Given the description of an element on the screen output the (x, y) to click on. 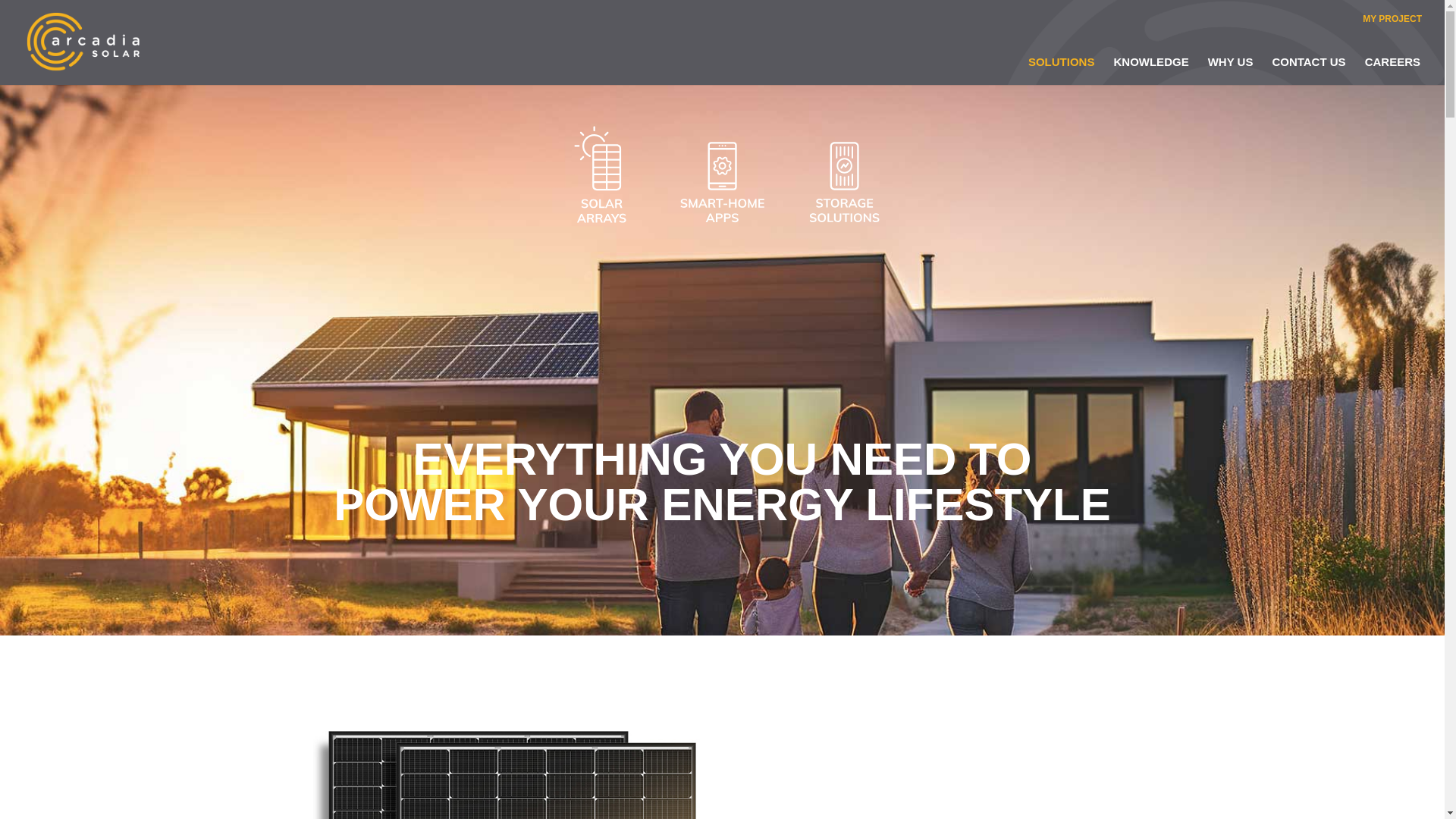
CONTACT US (1315, 61)
KNOWLEDGE (1158, 61)
Panels-02 (505, 757)
SOLUTIONS (1068, 61)
WHY US (1238, 61)
CAREERS (1393, 61)
MY PROJECT (1392, 22)
